Given the description of an element on the screen output the (x, y) to click on. 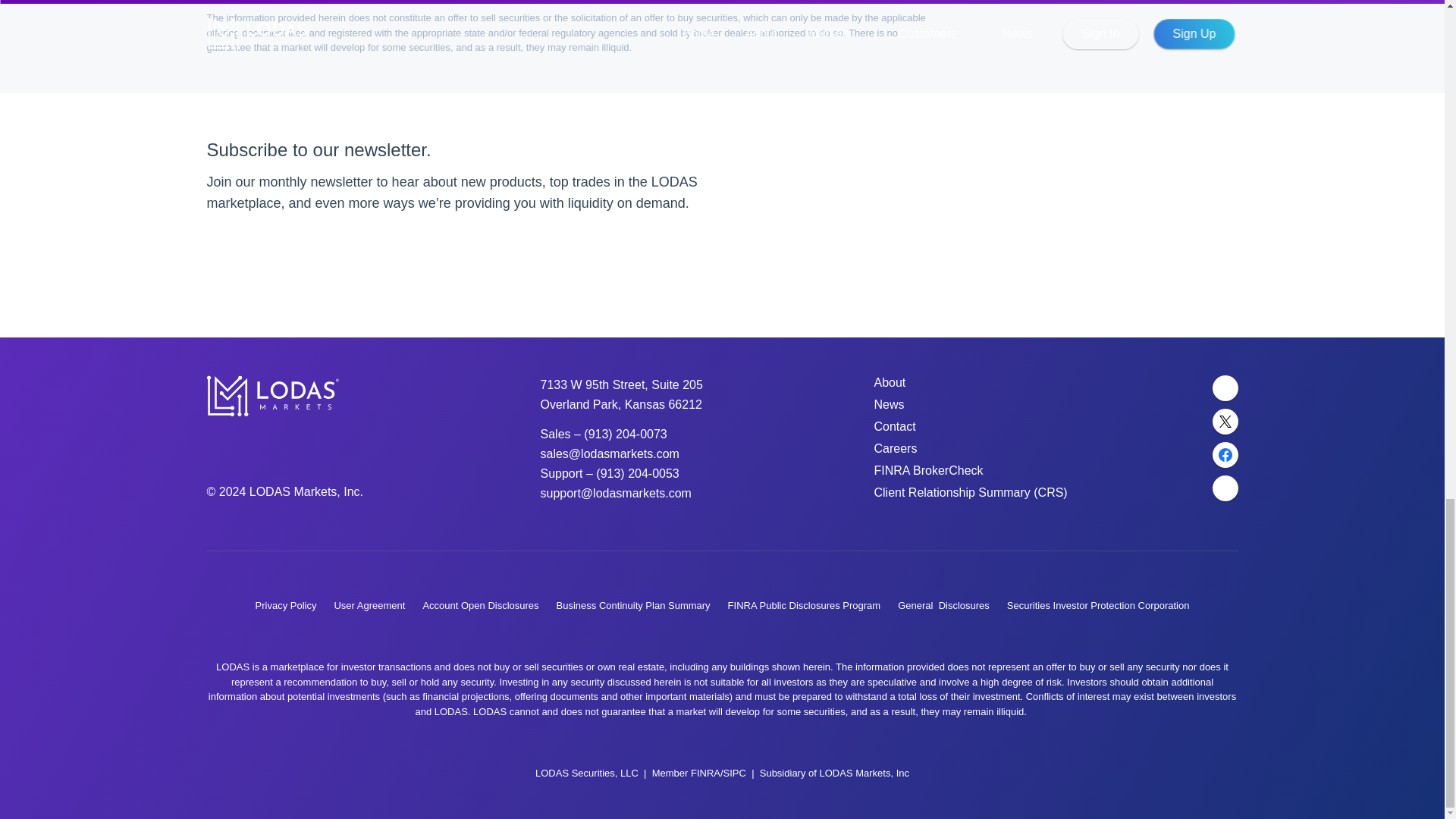
Privacy Policy (286, 604)
Account Open Disclosures (480, 604)
News (888, 404)
Business Continuity Plan Summary (633, 604)
User Agreement (368, 604)
General  Disclosures (944, 604)
FINRA BrokerCheck (927, 470)
Contact (894, 426)
FINRA Public Disclosures Program (804, 604)
Careers (895, 448)
